Given the description of an element on the screen output the (x, y) to click on. 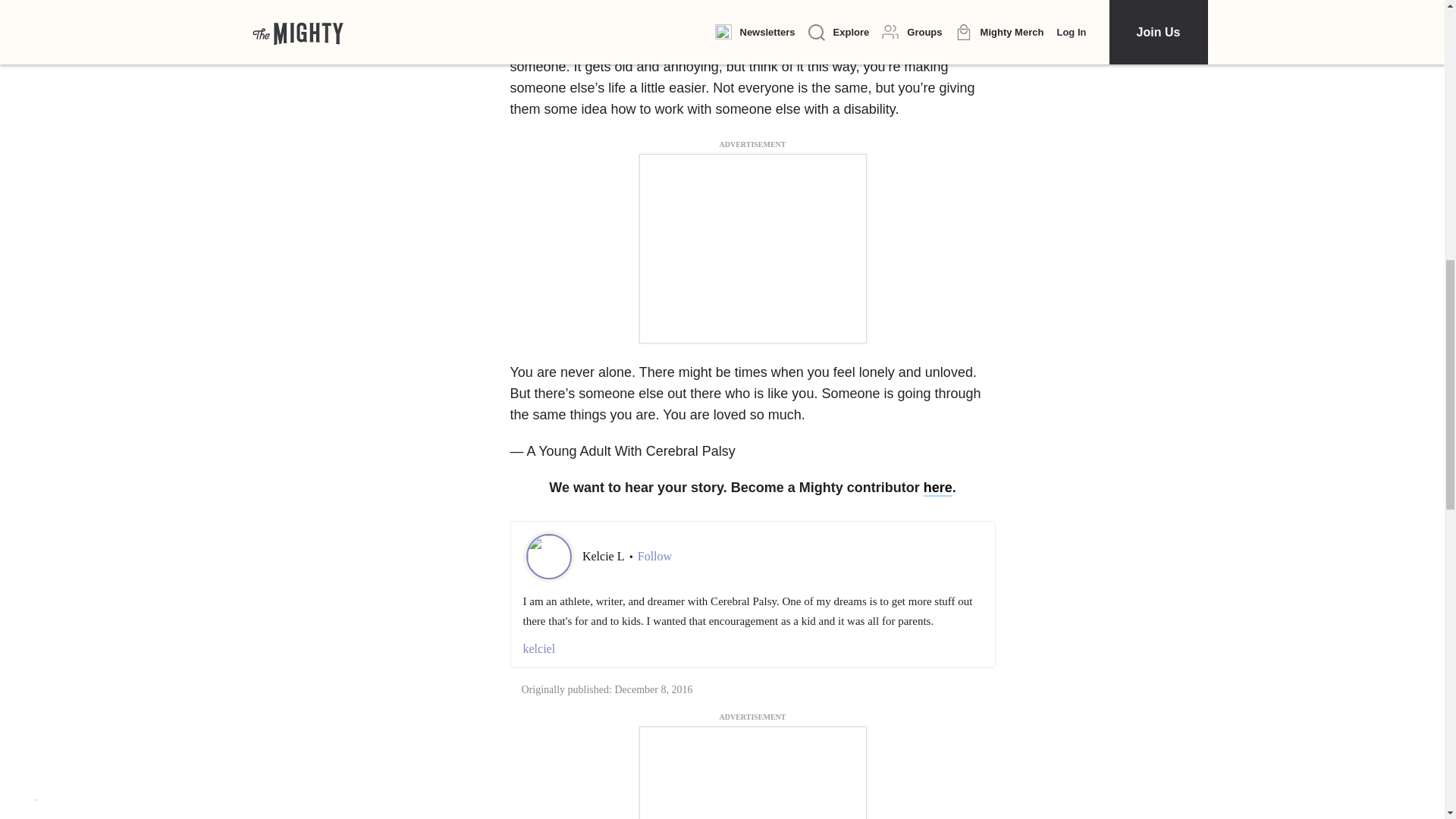
here (937, 487)
Kelcie L (604, 555)
kelciel (752, 648)
Follow (654, 556)
